Given the description of an element on the screen output the (x, y) to click on. 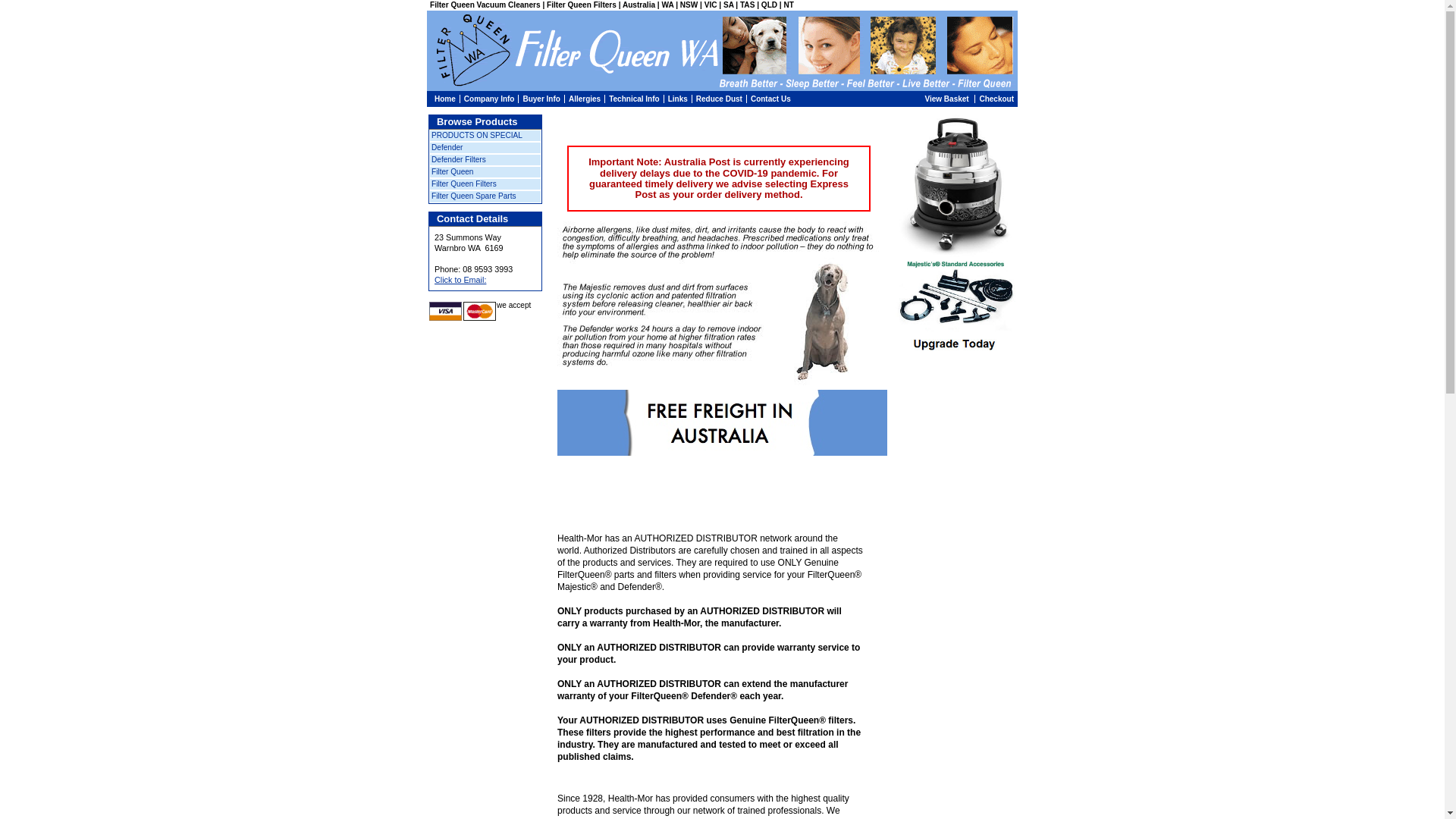
PRODUCTS ON SPECIAL Element type: text (484, 135)
Filter Queen Element type: text (484, 171)
Defender Filters Element type: text (484, 159)
Reduce Dust Element type: text (719, 98)
Contact Us Element type: text (770, 98)
Buyer Info Element type: text (540, 98)
Company Info Element type: text (489, 98)
Defender Element type: text (484, 147)
Checkout Element type: text (996, 98)
Links Element type: text (677, 98)
Technical Info Element type: text (633, 98)
Home Element type: text (444, 98)
View Basket Element type: text (946, 98)
Allergies Element type: text (584, 98)
Filter Queen Filters Element type: text (484, 183)
Click to Email: Element type: text (460, 279)
Filter Queen Spare Parts Element type: text (484, 196)
